Given the description of an element on the screen output the (x, y) to click on. 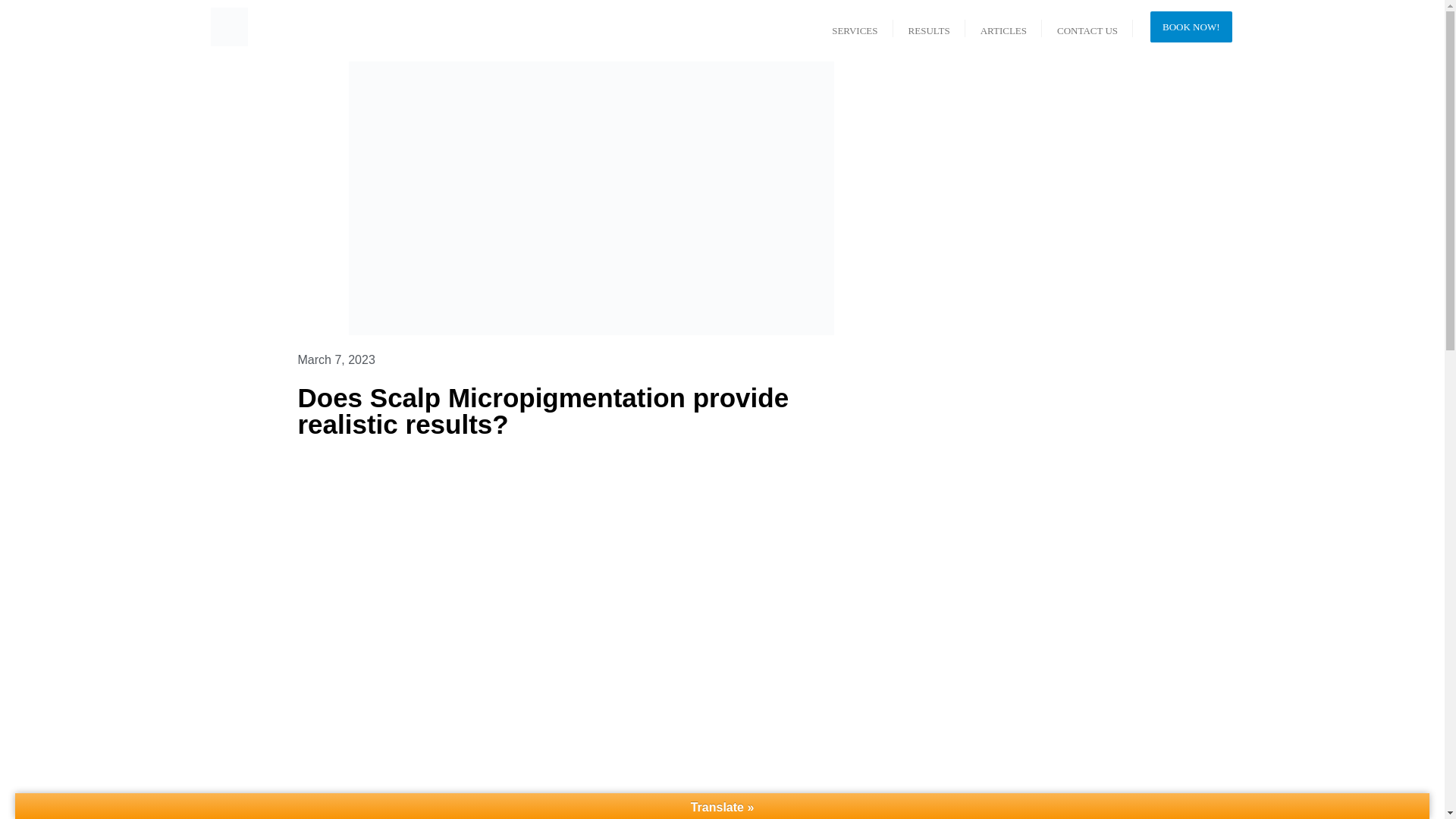
BOOK NOW! (1190, 27)
CONTACT US (1087, 26)
SERVICES (854, 26)
RESULTS (929, 26)
ARTICLES (1003, 26)
March 7, 2023 (335, 359)
